Given the description of an element on the screen output the (x, y) to click on. 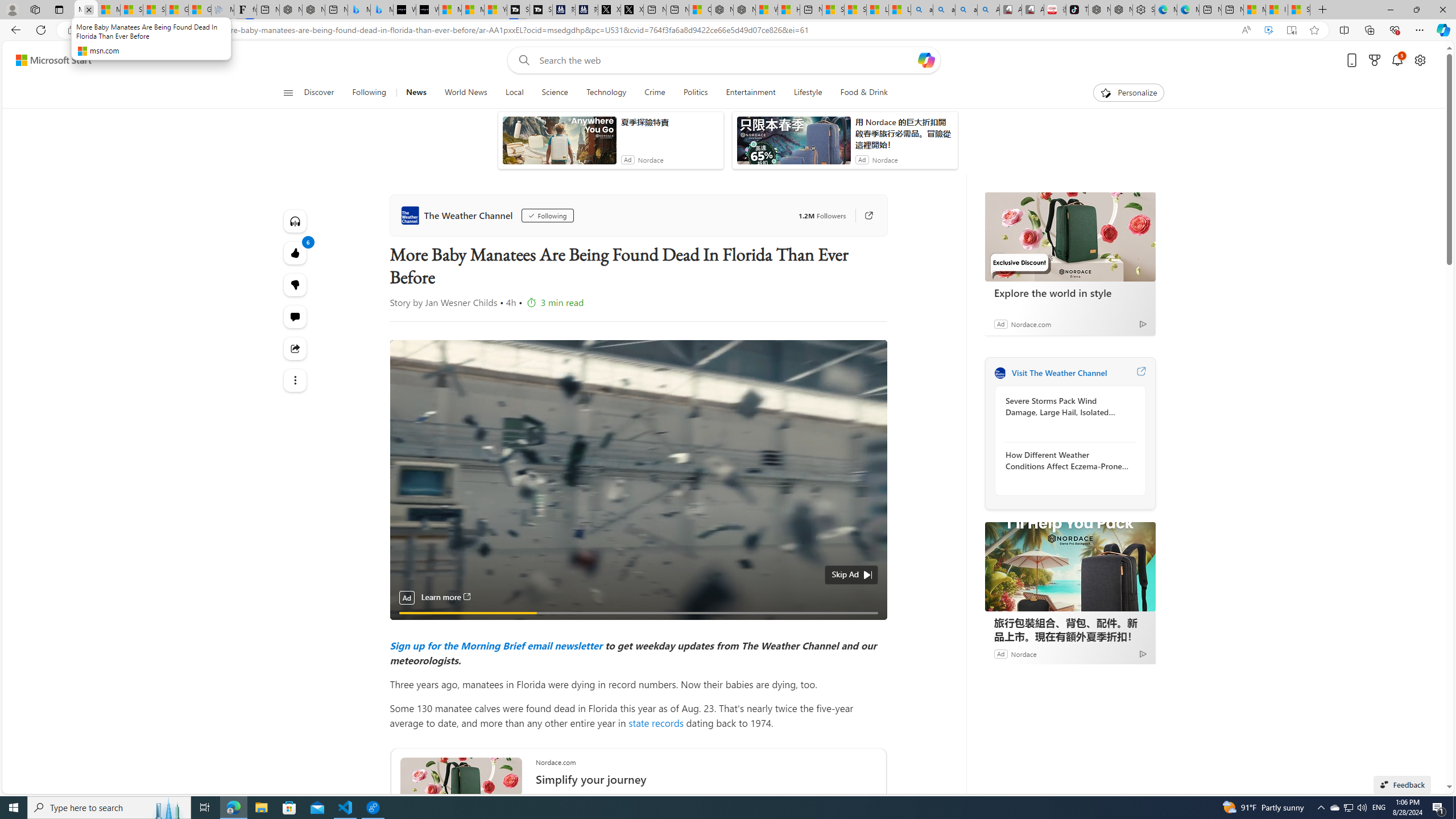
More like this6Fewer like thisStart the conversation (295, 284)
Explore the world in style (1069, 292)
Streaming Coverage | T3 (518, 9)
Enhance video (1268, 29)
Lifestyle (807, 92)
Microsoft Bing Travel - Shangri-La Hotel Bangkok (381, 9)
Open settings (1420, 60)
Food & Drink (864, 92)
The Weather Channel (1000, 372)
Politics (695, 92)
Entertainment (750, 92)
